Given the description of an element on the screen output the (x, y) to click on. 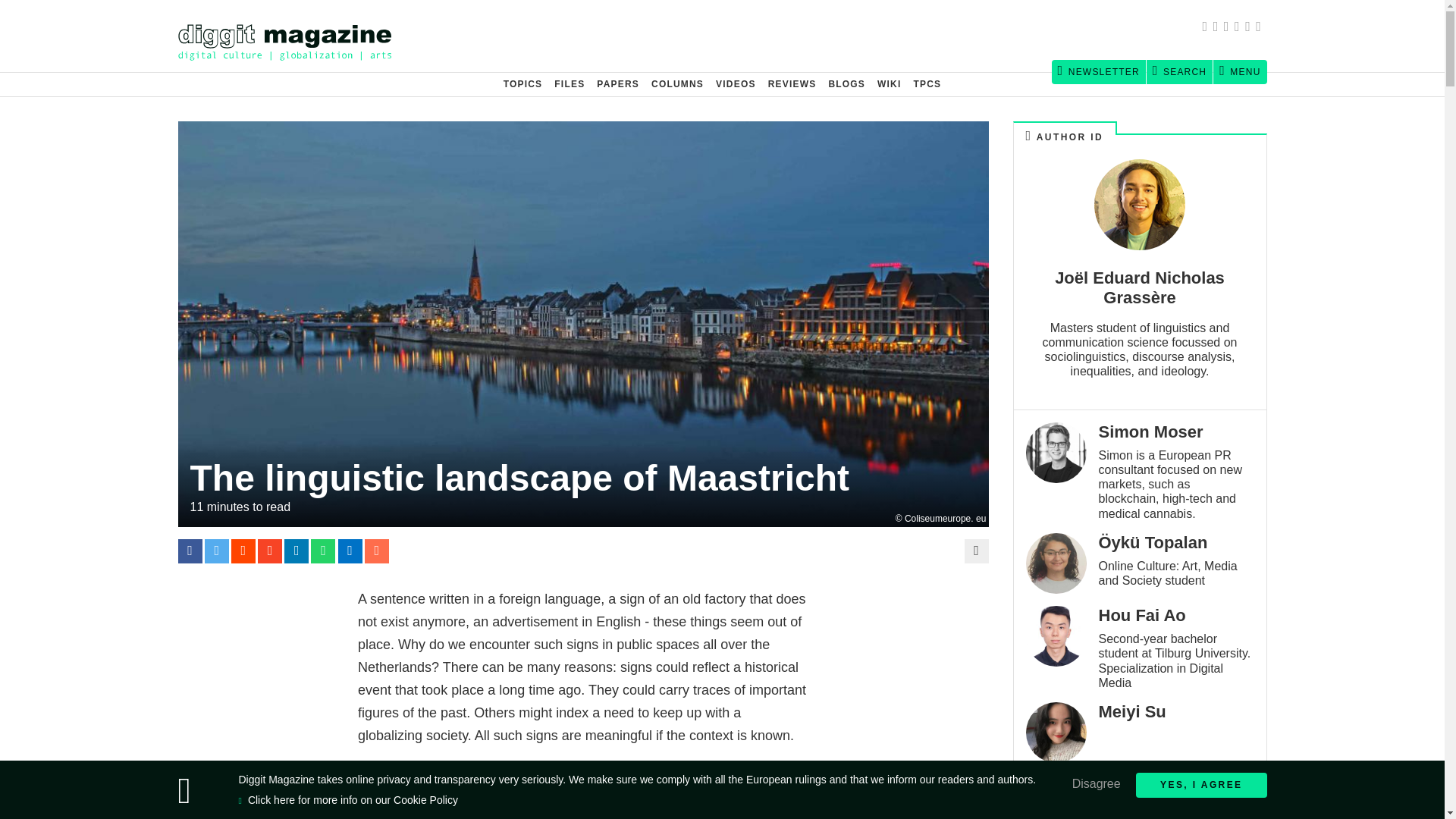
REVIEWS (791, 83)
COLUMNS (677, 83)
VIDEOS (735, 83)
Home (290, 36)
NEWSLETTER (1098, 71)
LINKEDIN (1249, 27)
YOUTUBE (1260, 27)
SEARCH (1179, 71)
TOPICS (522, 83)
